Given the description of an element on the screen output the (x, y) to click on. 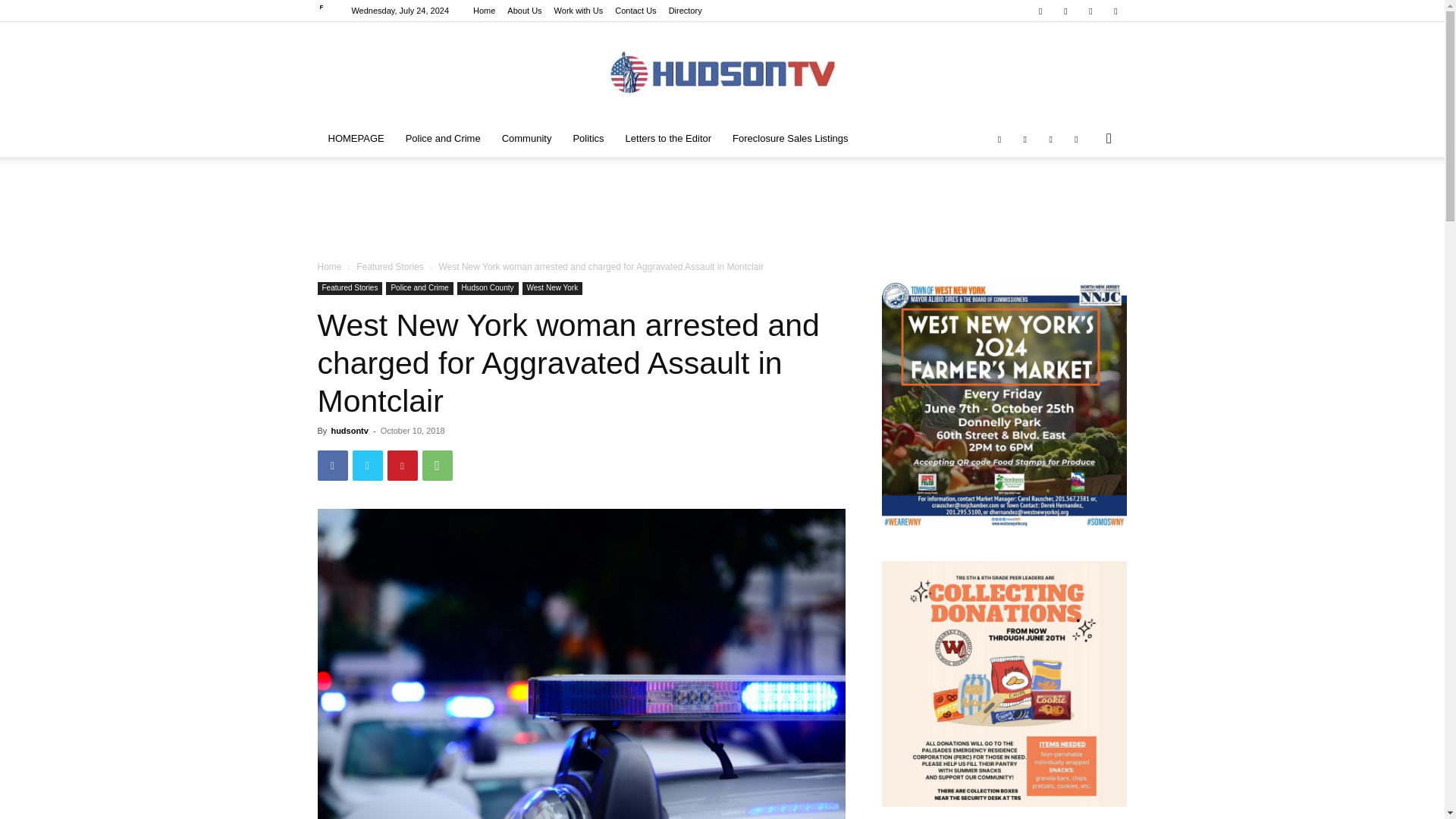
Search (1085, 199)
Community (527, 138)
Facebook (1040, 10)
View all posts in Featured Stories (389, 266)
Foreclosure Sales Listings (790, 138)
HOMEPAGE (355, 138)
Home (328, 266)
Directory (684, 10)
Youtube (1114, 10)
Mail (1065, 10)
Twitter (366, 465)
Police and Crime (443, 138)
Politics (588, 138)
Featured Stories (389, 266)
Contact Us (635, 10)
